Given the description of an element on the screen output the (x, y) to click on. 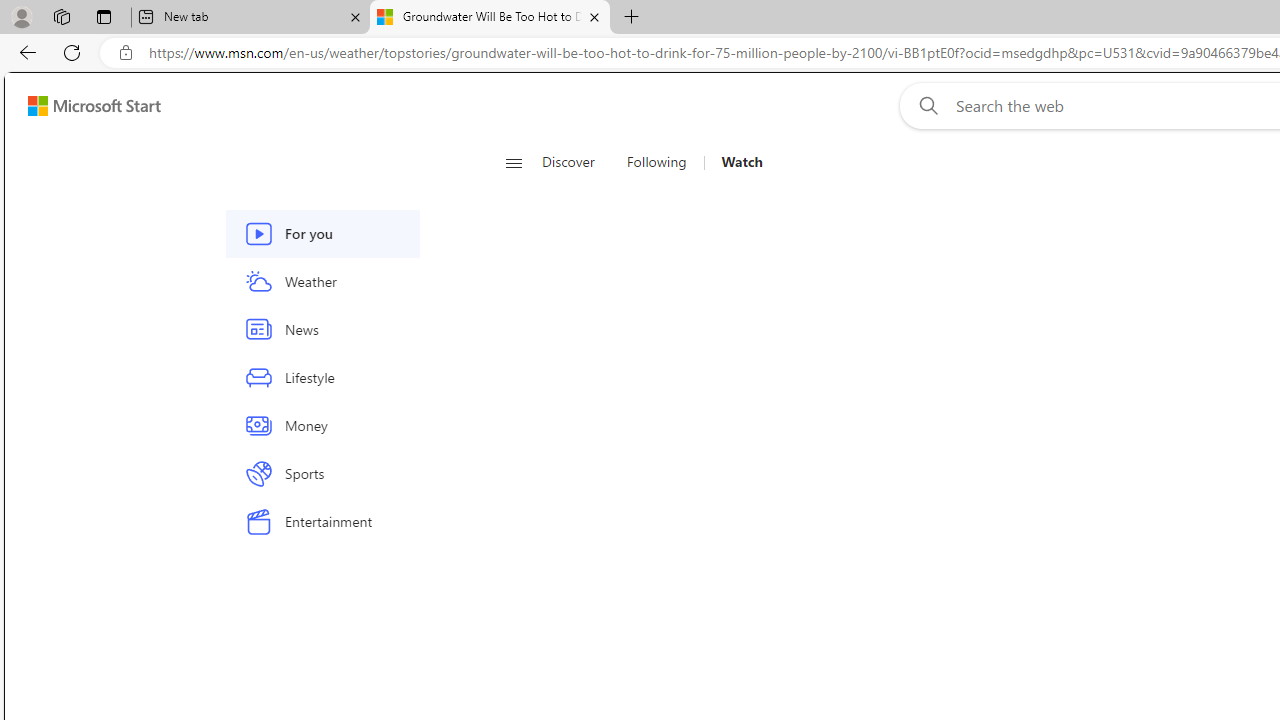
Skip to footer (82, 105)
